Given the description of an element on the screen output the (x, y) to click on. 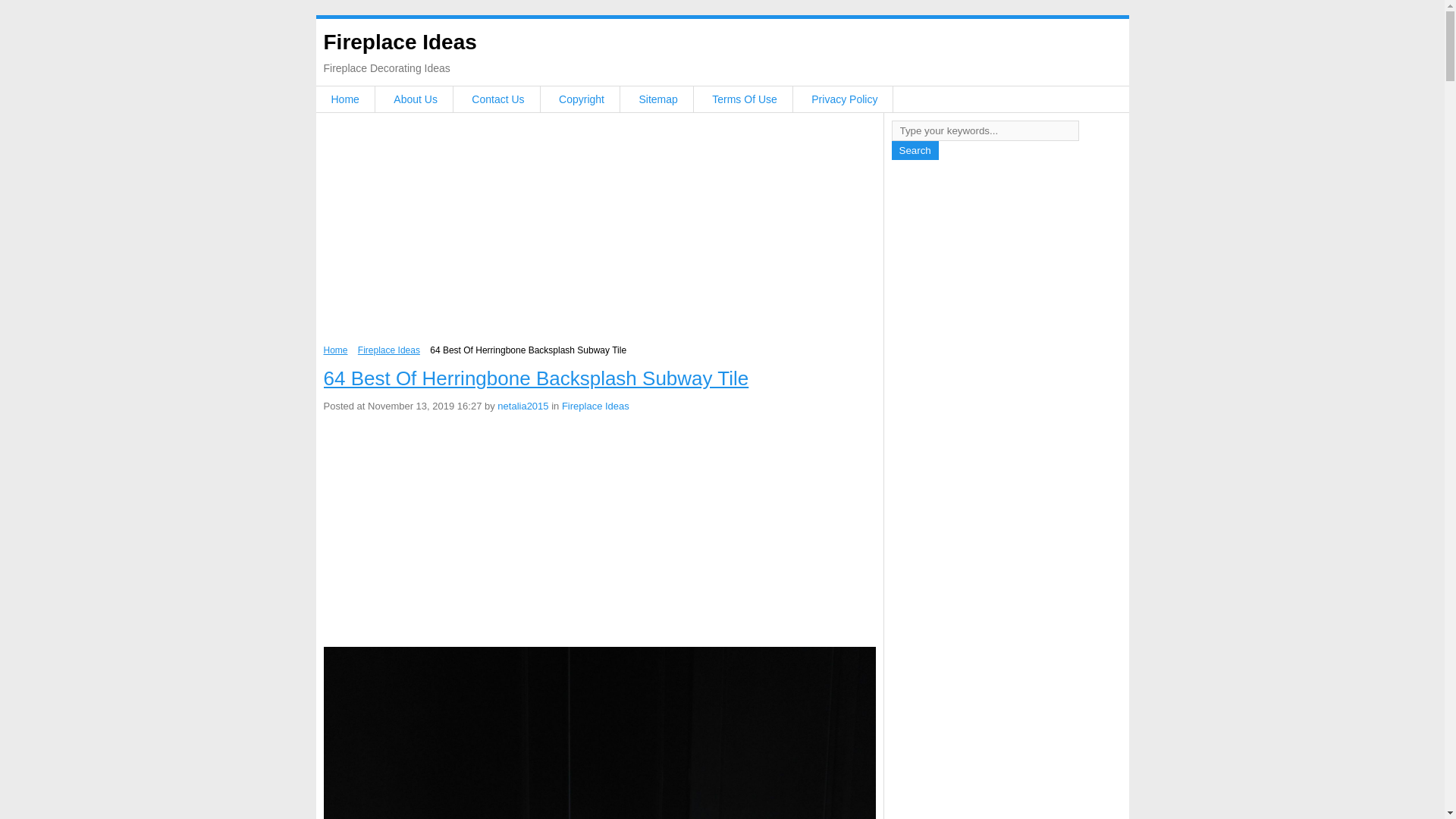
About Us (415, 99)
Advertisement (599, 232)
Sitemap (658, 99)
Fireplace Ideas (595, 405)
Contact Us (497, 99)
Fireplace Ideas (399, 42)
Fireplace Ideas (389, 349)
Terms Of Use (744, 99)
Copyright (581, 99)
Search (915, 149)
